Given the description of an element on the screen output the (x, y) to click on. 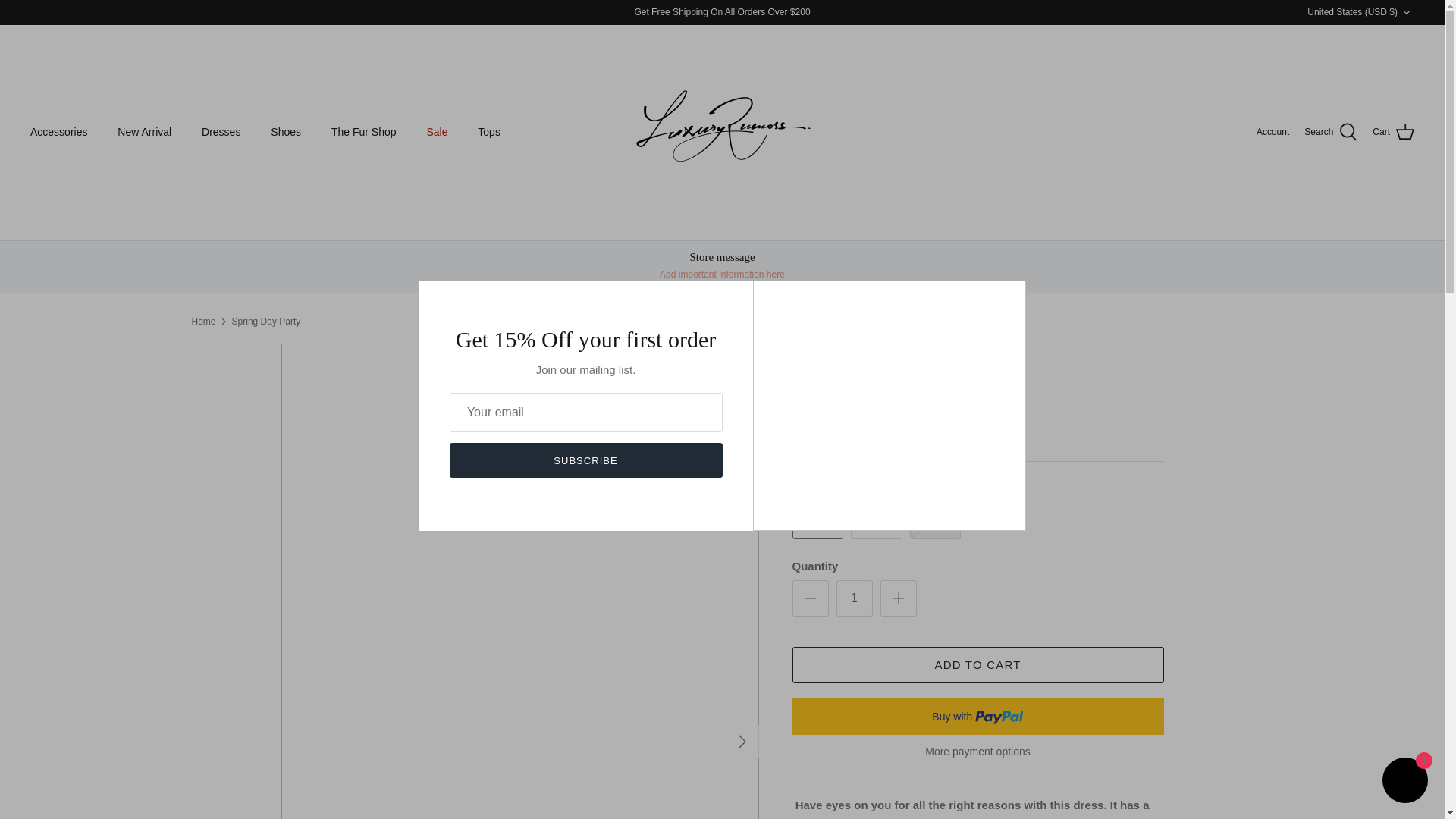
Minus (809, 597)
Luxury Rumors (722, 132)
RIGHT (741, 741)
Shopify online store chat (1404, 781)
Plus (897, 597)
1 (853, 597)
Down (1406, 12)
